Given the description of an element on the screen output the (x, y) to click on. 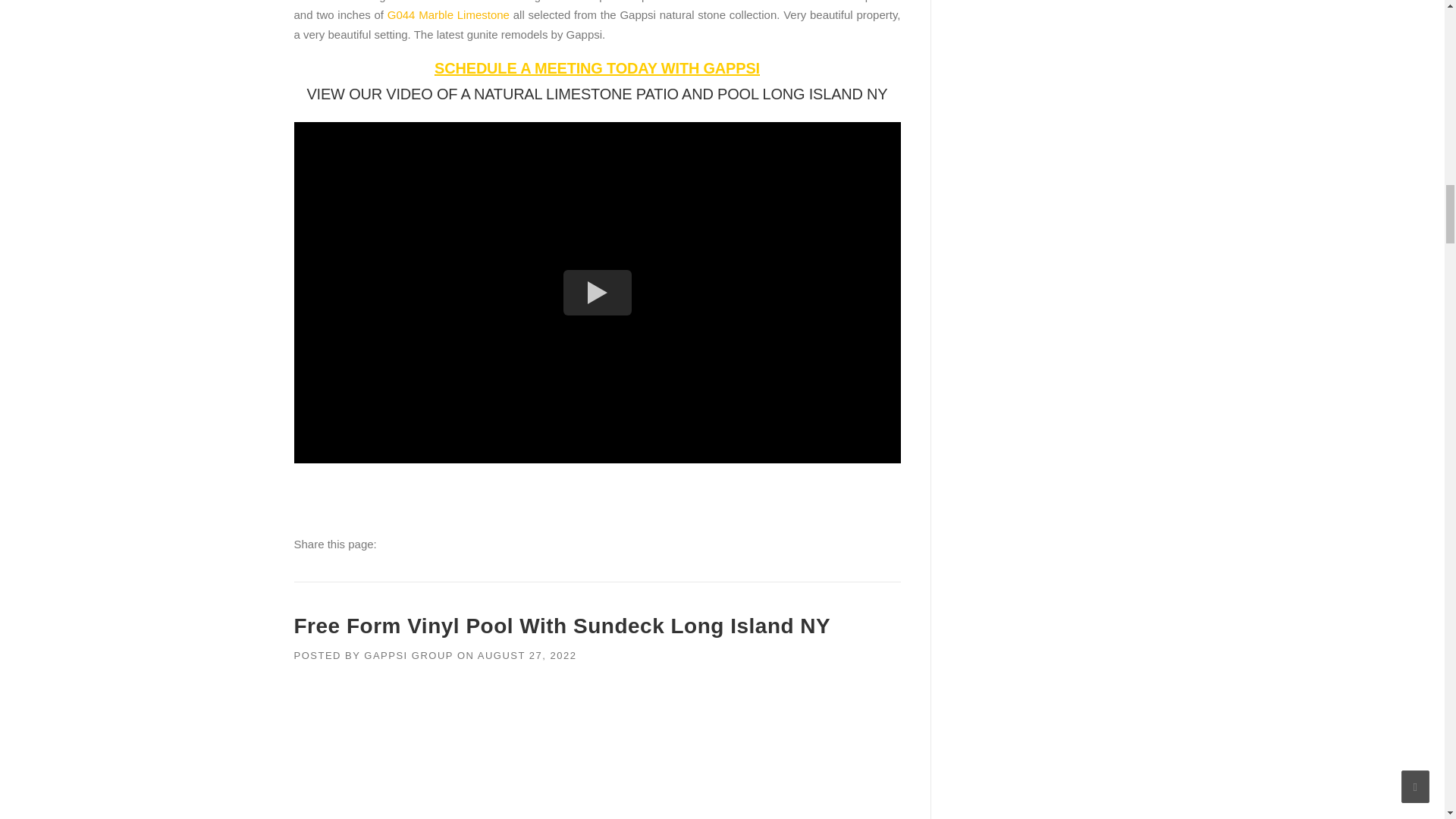
SCHEDULE A MEETING TODAY WITH GAPPSI (596, 67)
AUGUST 27, 2022 (526, 655)
Free Form Vinyl Pool With Sundeck Long Island NY (562, 626)
G044 Marble Limestone (448, 14)
GAPPSI GROUP (408, 655)
